Given the description of an element on the screen output the (x, y) to click on. 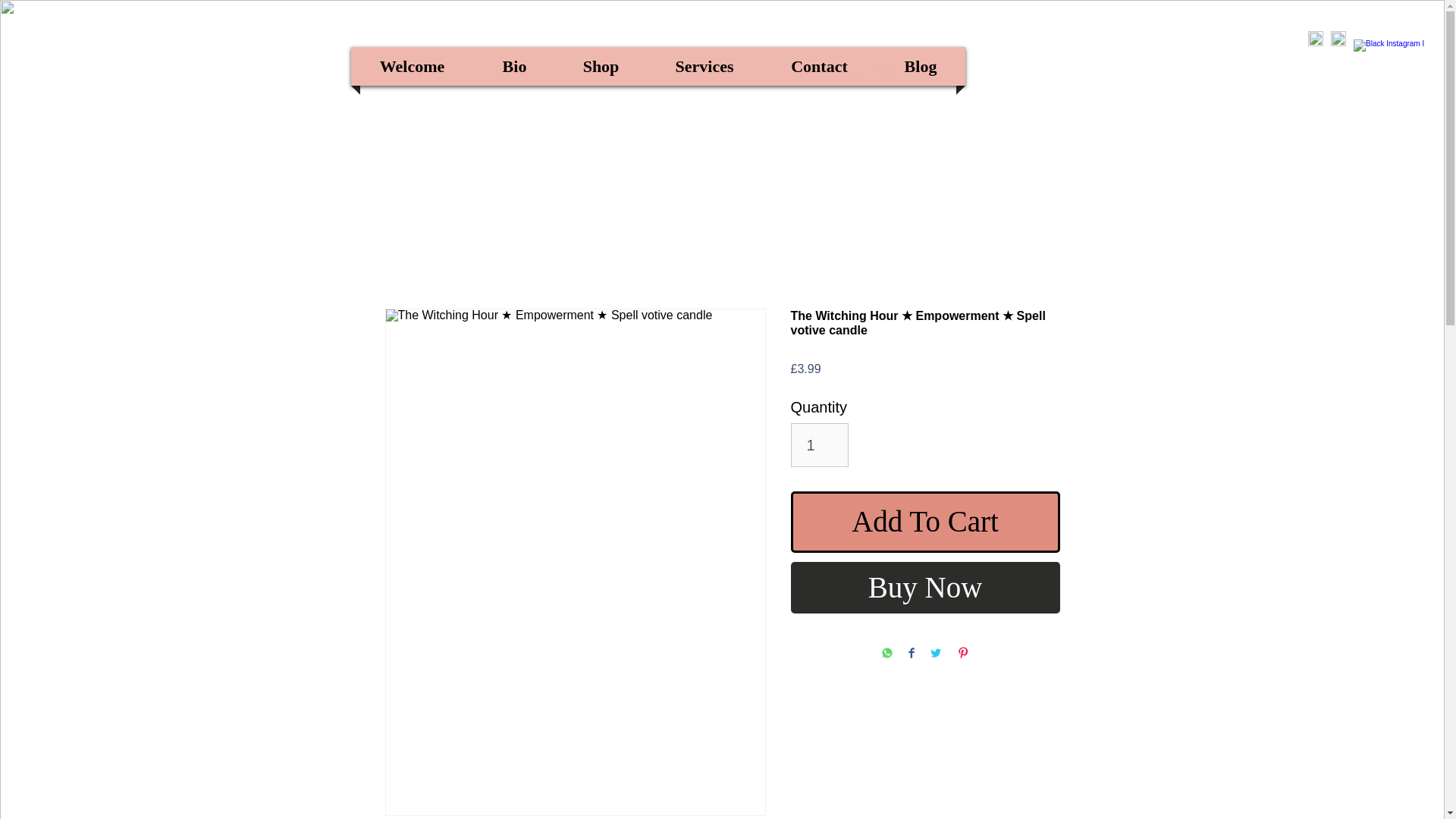
Buy Now (924, 587)
1 (818, 444)
Add To Cart (924, 521)
Bio (513, 65)
Contact (819, 65)
Blog (920, 65)
Shop (600, 65)
Services (703, 65)
Welcome (411, 65)
